Given the description of an element on the screen output the (x, y) to click on. 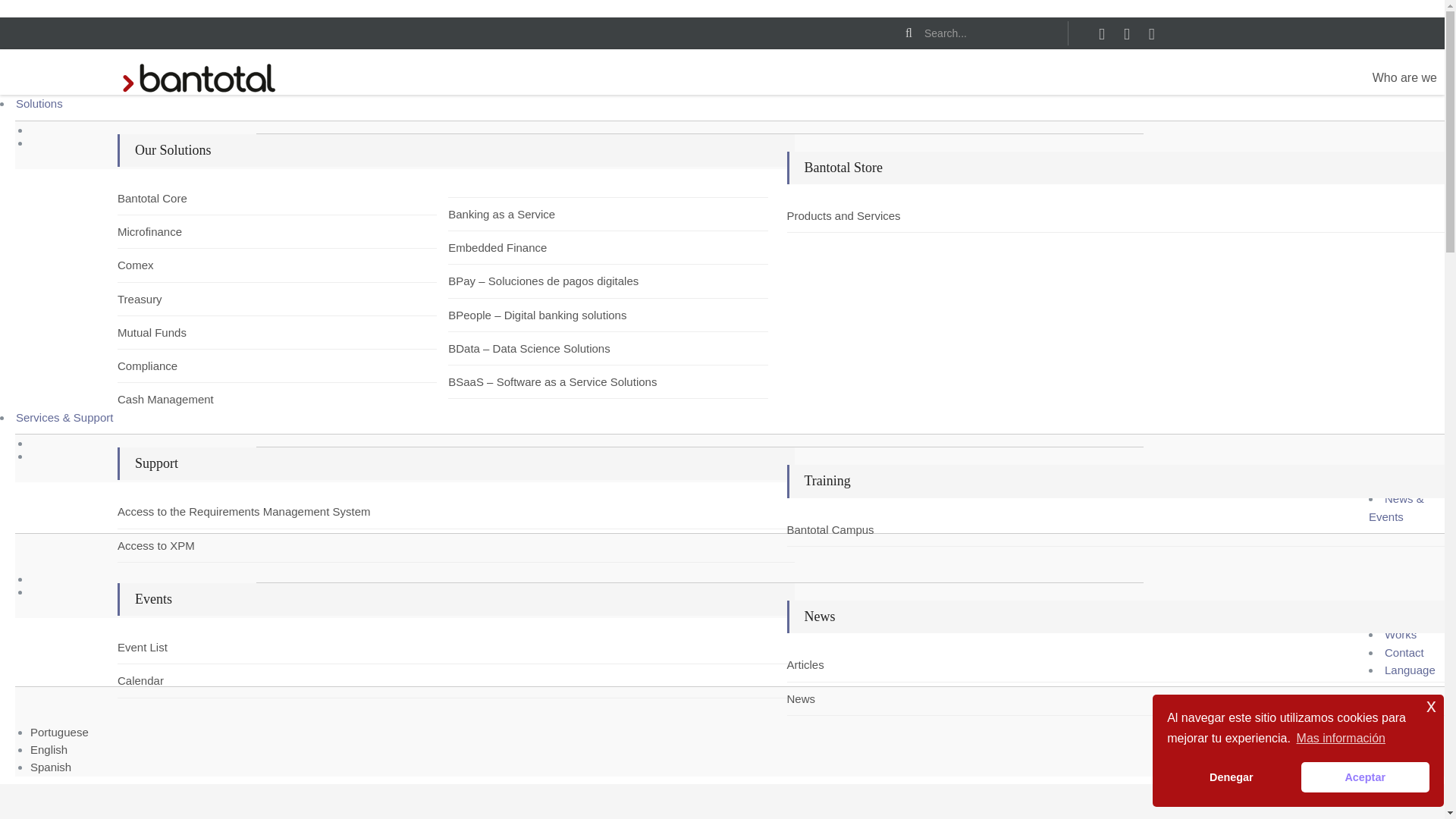
Embedded Finance (493, 247)
Who are we (1405, 78)
Mutual Funds (162, 332)
Banking as a Service (493, 213)
Compliance (162, 365)
Bantotal Campus (832, 529)
Event List (162, 647)
Bantotal Core (162, 198)
Microfinance (162, 231)
Contact (1403, 652)
Treasury (162, 298)
Access to XPM (162, 545)
Products and Services (832, 215)
Comex (162, 264)
News (832, 698)
